Given the description of an element on the screen output the (x, y) to click on. 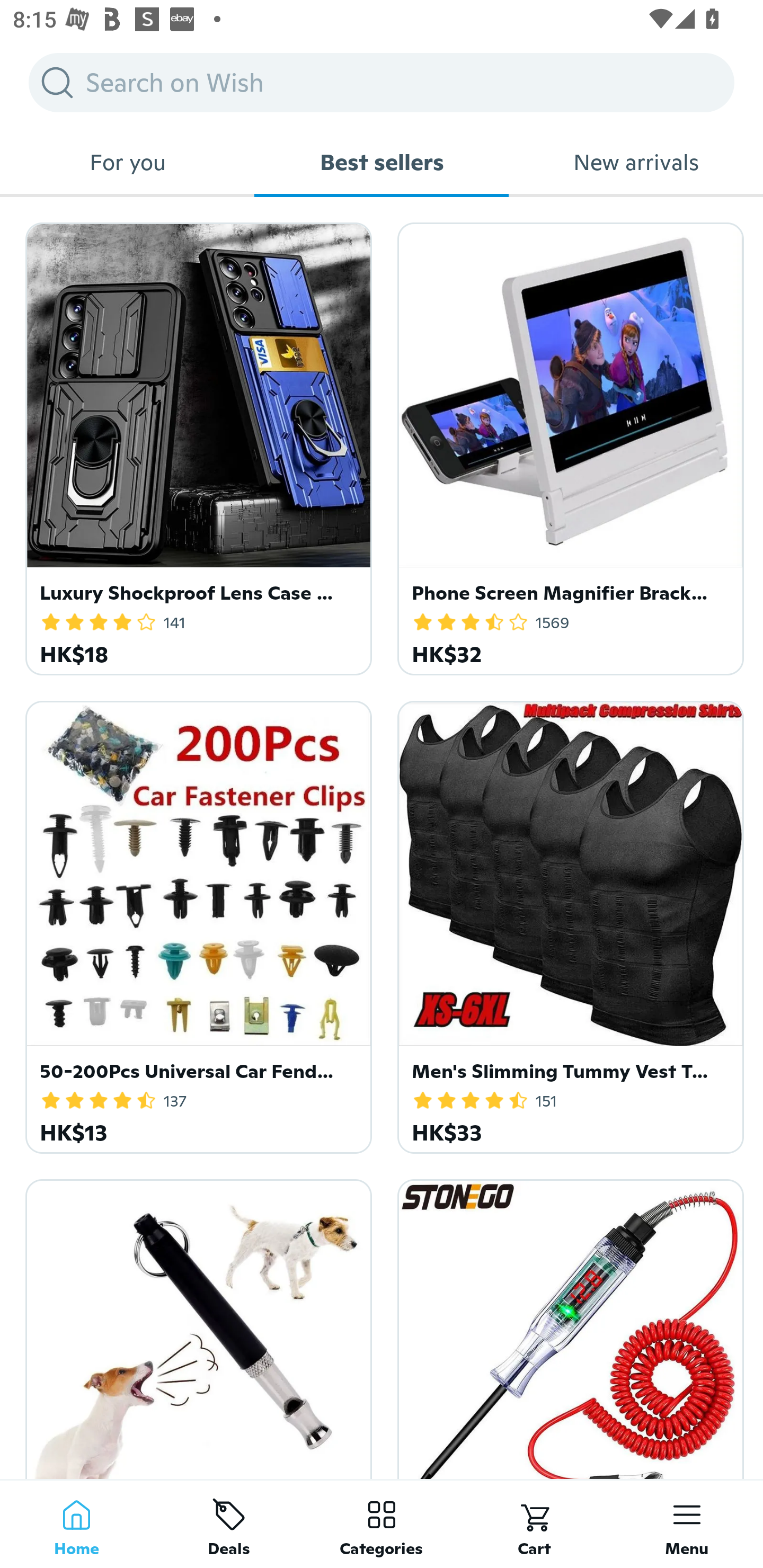
Search on Wish (381, 82)
For you (127, 161)
Best sellers (381, 161)
New arrivals (635, 161)
Home (76, 1523)
Deals (228, 1523)
Categories (381, 1523)
Cart (533, 1523)
Menu (686, 1523)
